Given the description of an element on the screen output the (x, y) to click on. 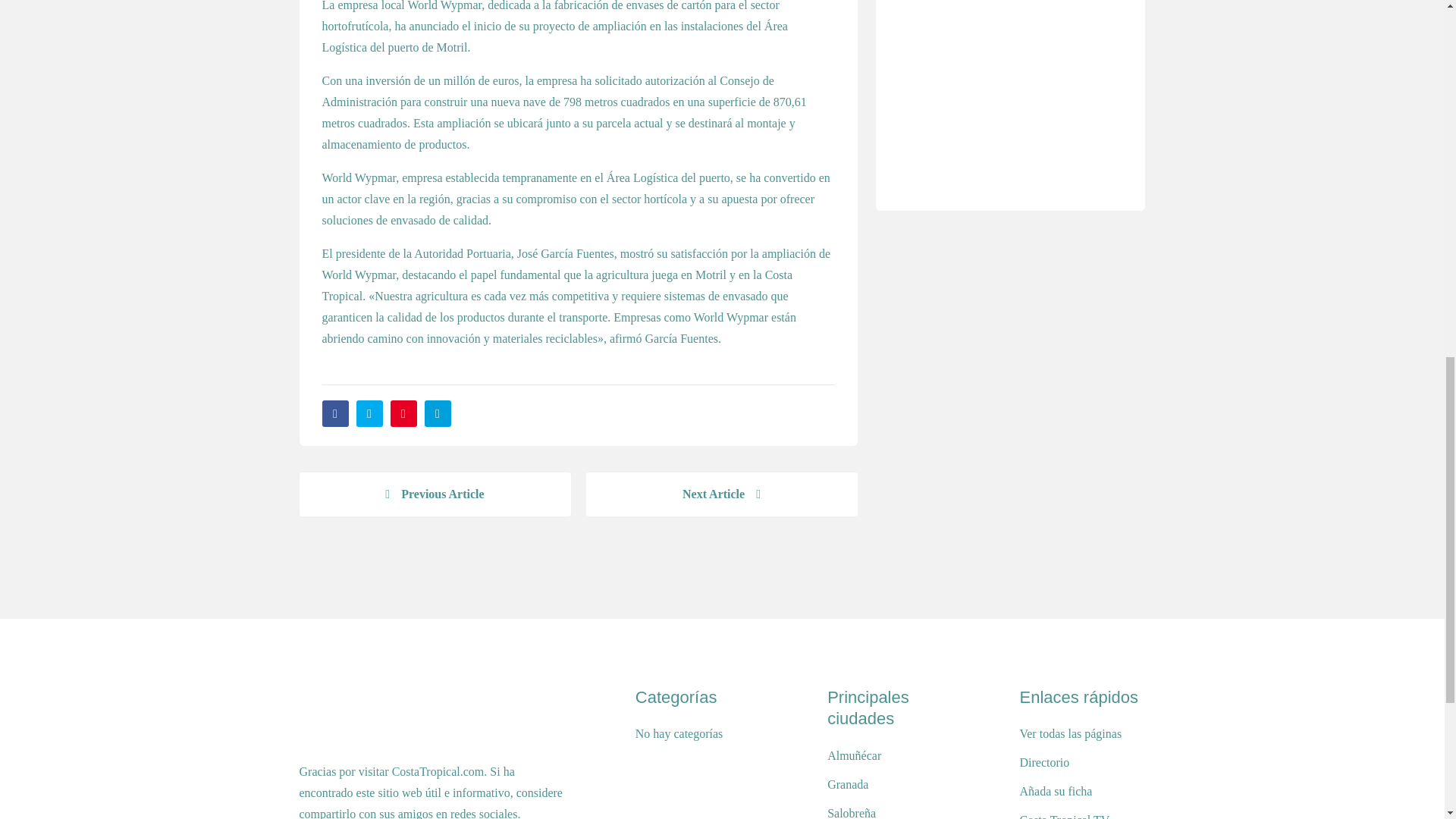
Logo Costa Tropical (335, 716)
